Given the description of an element on the screen output the (x, y) to click on. 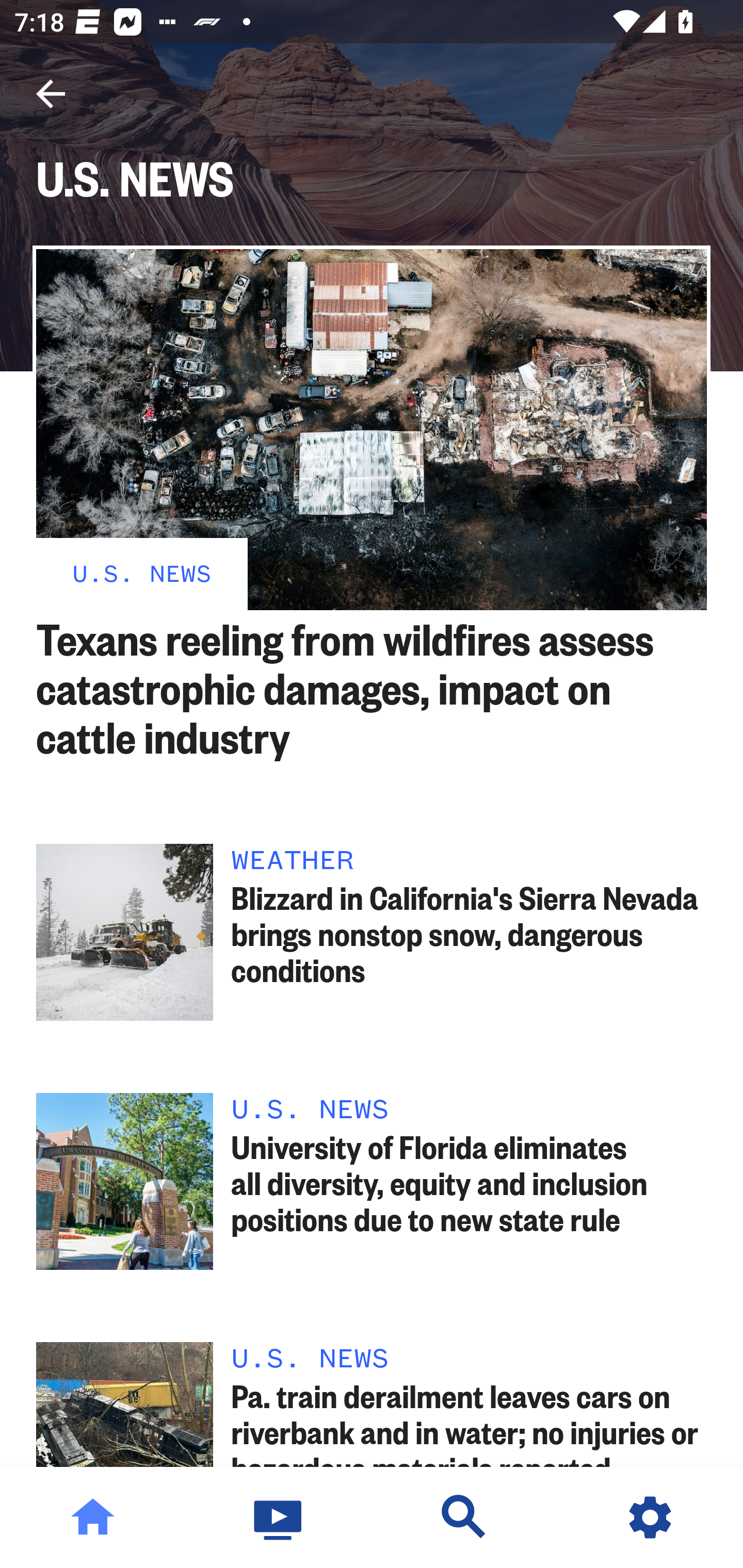
Navigate up (50, 93)
Watch (278, 1517)
Discover (464, 1517)
Settings (650, 1517)
